Given the description of an element on the screen output the (x, y) to click on. 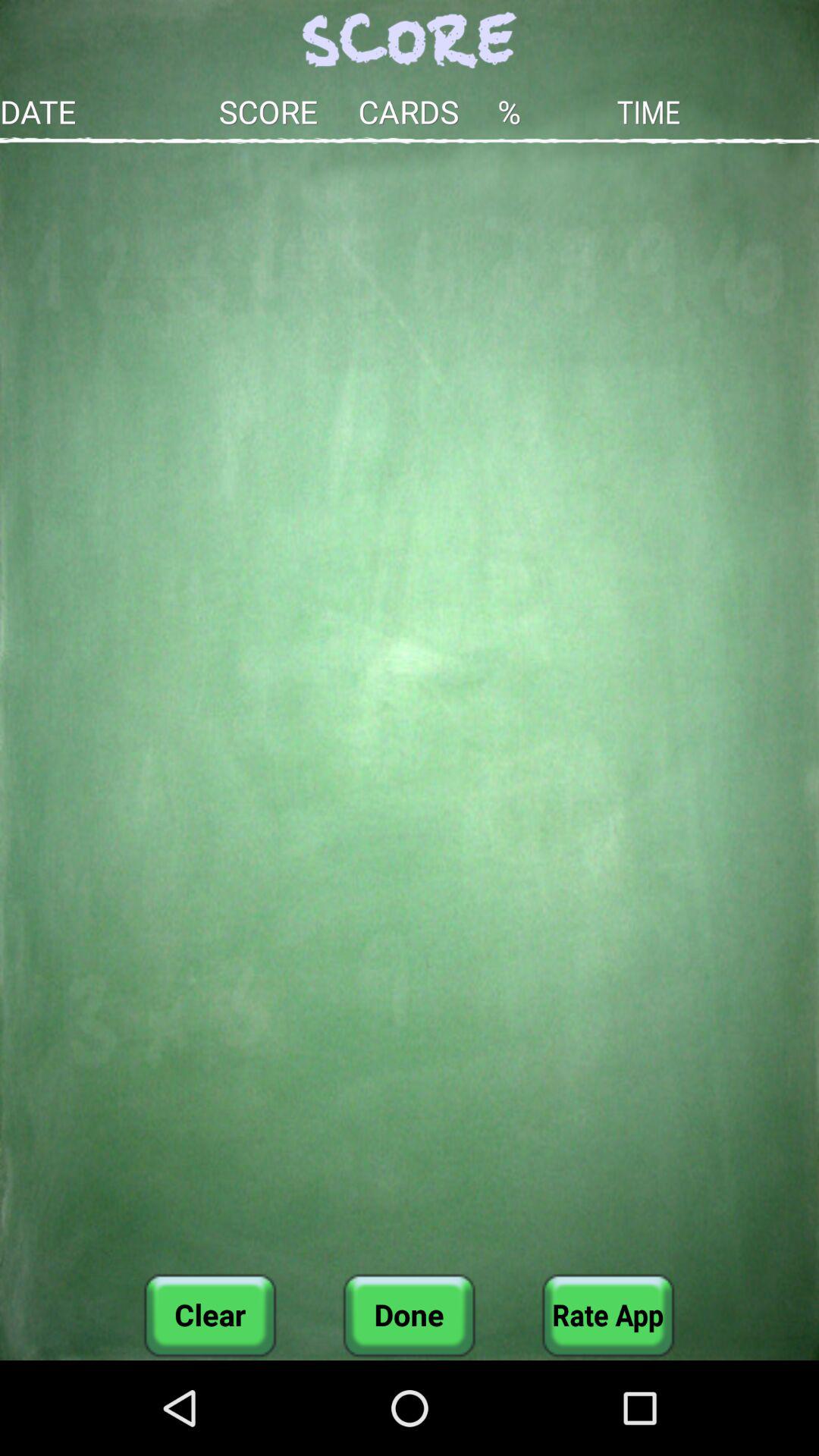
click the button next to the rate app button (408, 1315)
